Given the description of an element on the screen output the (x, y) to click on. 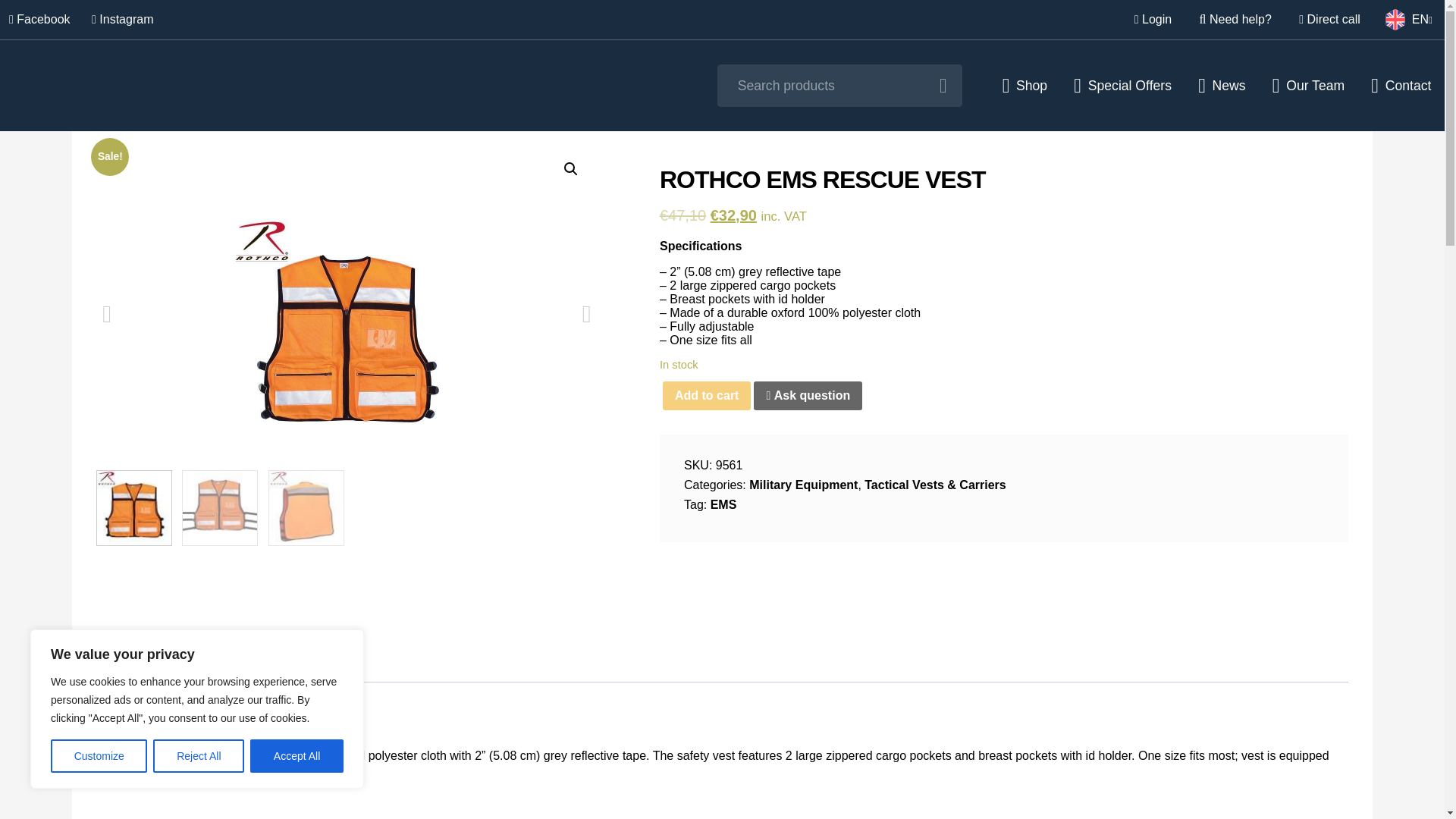
Accept All (296, 756)
Shop (1024, 85)
Follow us on Instagram (121, 20)
Sabotage Oddal (180, 85)
Need help? (1236, 19)
Login (1152, 19)
Follow us on Facebook (40, 20)
Special Offers (1123, 85)
Instagram (121, 20)
Reject All (198, 756)
Customize (98, 756)
News (1222, 85)
Send (883, 578)
Login or Register for an Account (1152, 19)
View help resources (1236, 19)
